Given the description of an element on the screen output the (x, y) to click on. 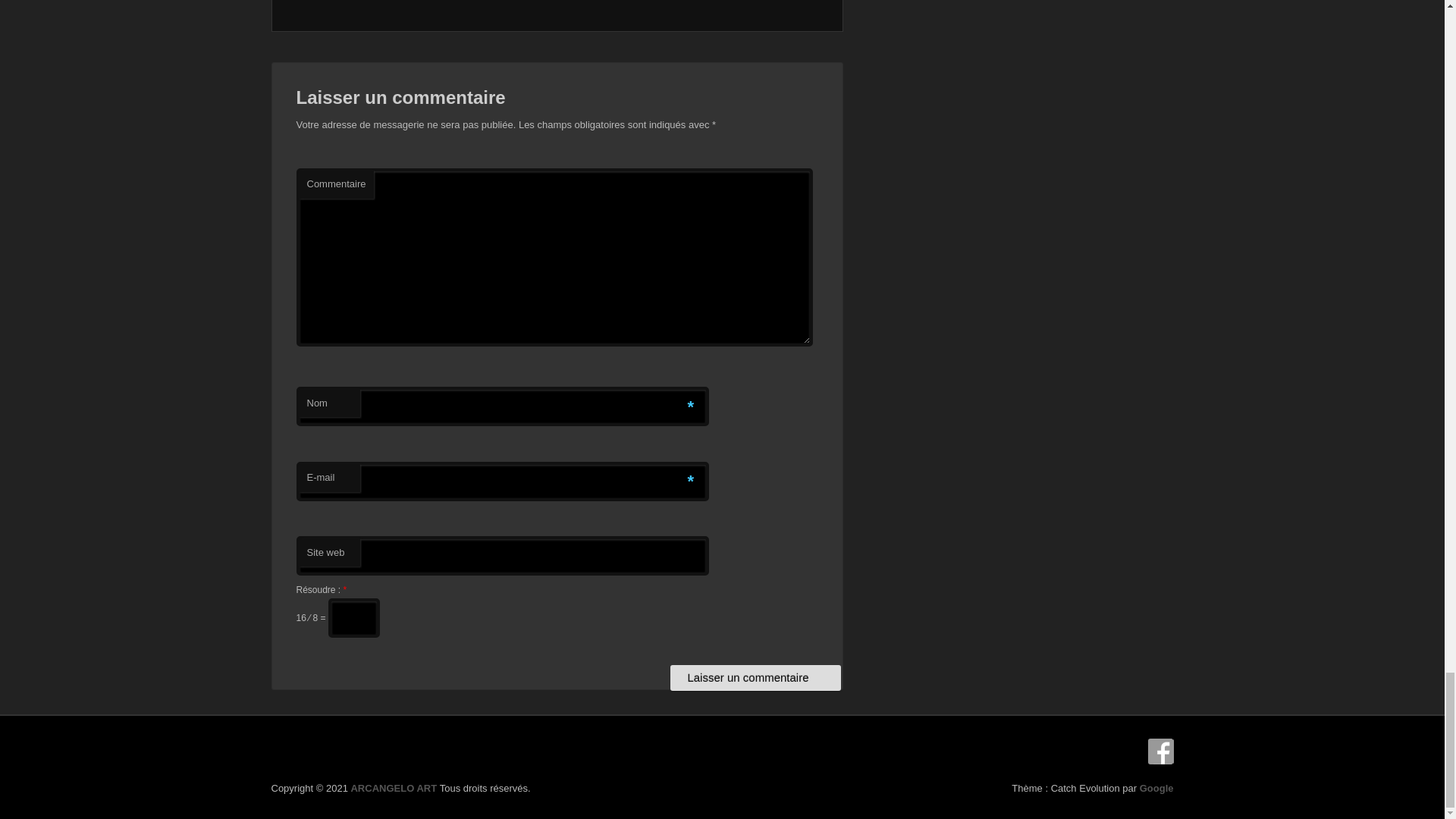
Keto Salts On Shark Tank (1160, 751)
Keto Salts On Shark Tank (394, 787)
ARCANGELO ART (394, 787)
Facebook (1160, 751)
Laisser un commentaire (754, 678)
Keto Salts On Shark Tank (1156, 787)
Google (1156, 787)
Laisser un commentaire (754, 678)
